Given the description of an element on the screen output the (x, y) to click on. 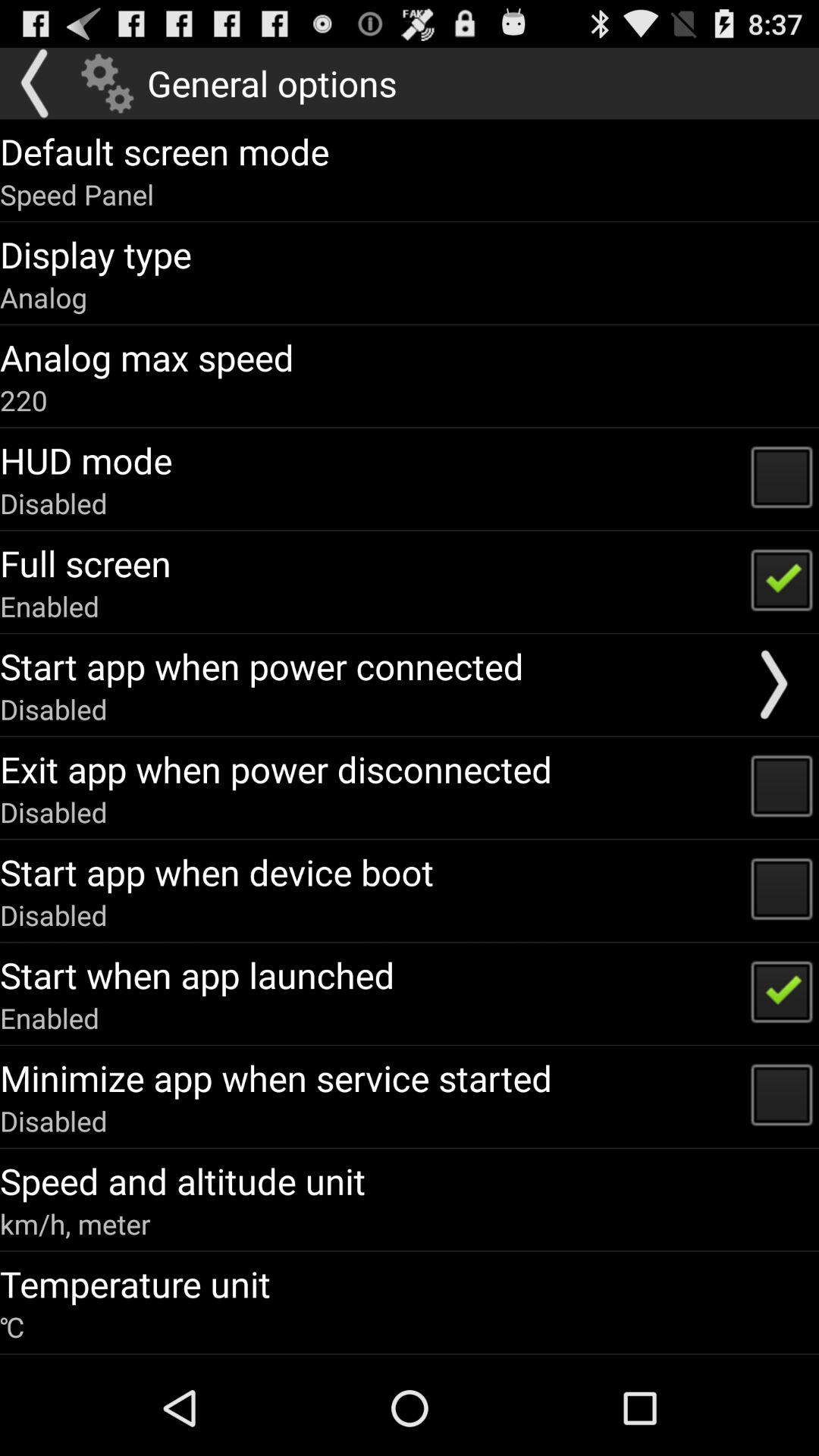
press the temperature unit (135, 1283)
